Given the description of an element on the screen output the (x, y) to click on. 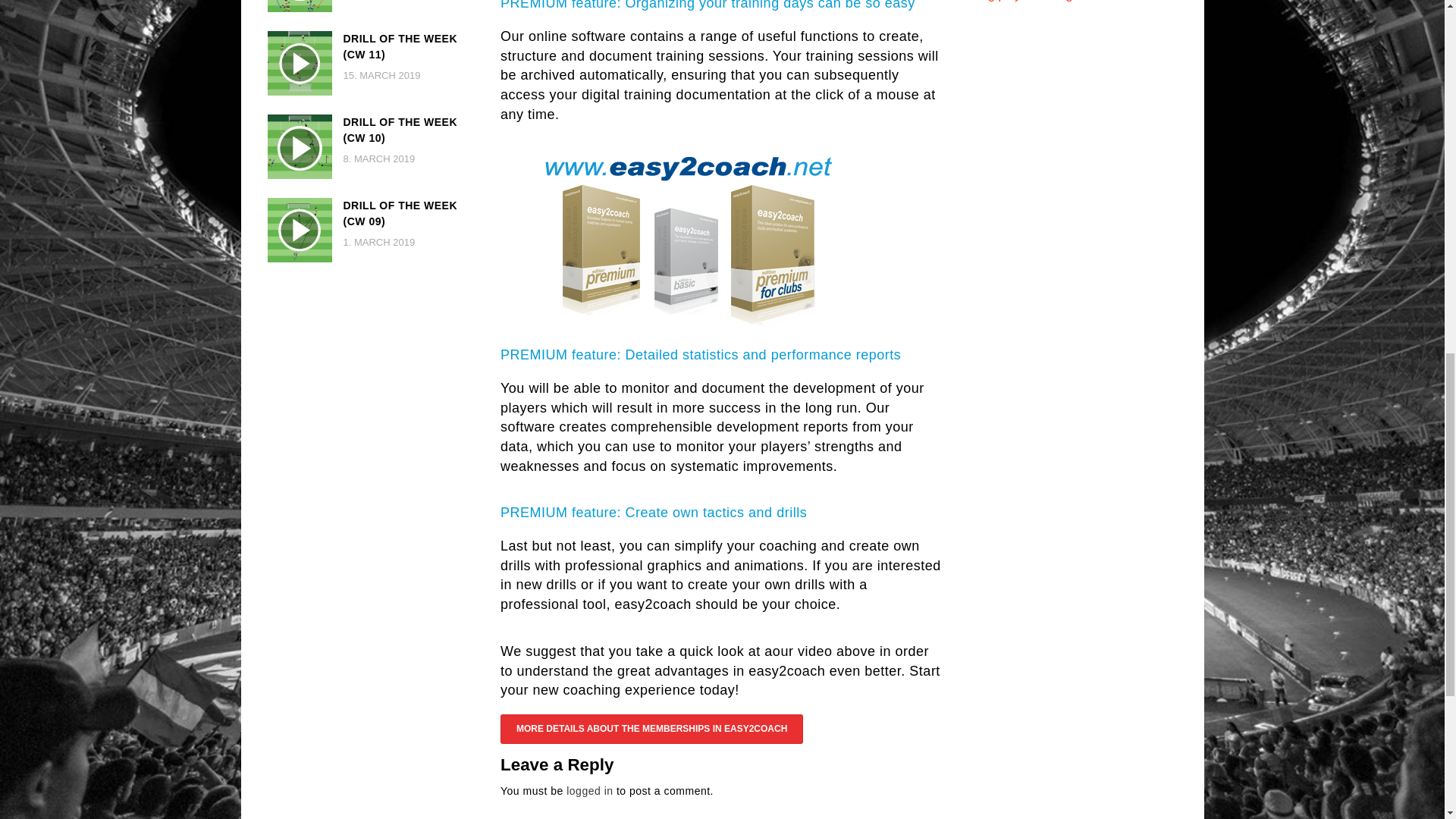
MORE DETAILS ABOUT THE MEMBERSHIPS IN EASY2COACH (651, 728)
logged in (589, 790)
PREMIUM feature: Create own tactics and drills (653, 512)
PREMIUM feature: Detailed statistics and performance reports (700, 354)
